Given the description of an element on the screen output the (x, y) to click on. 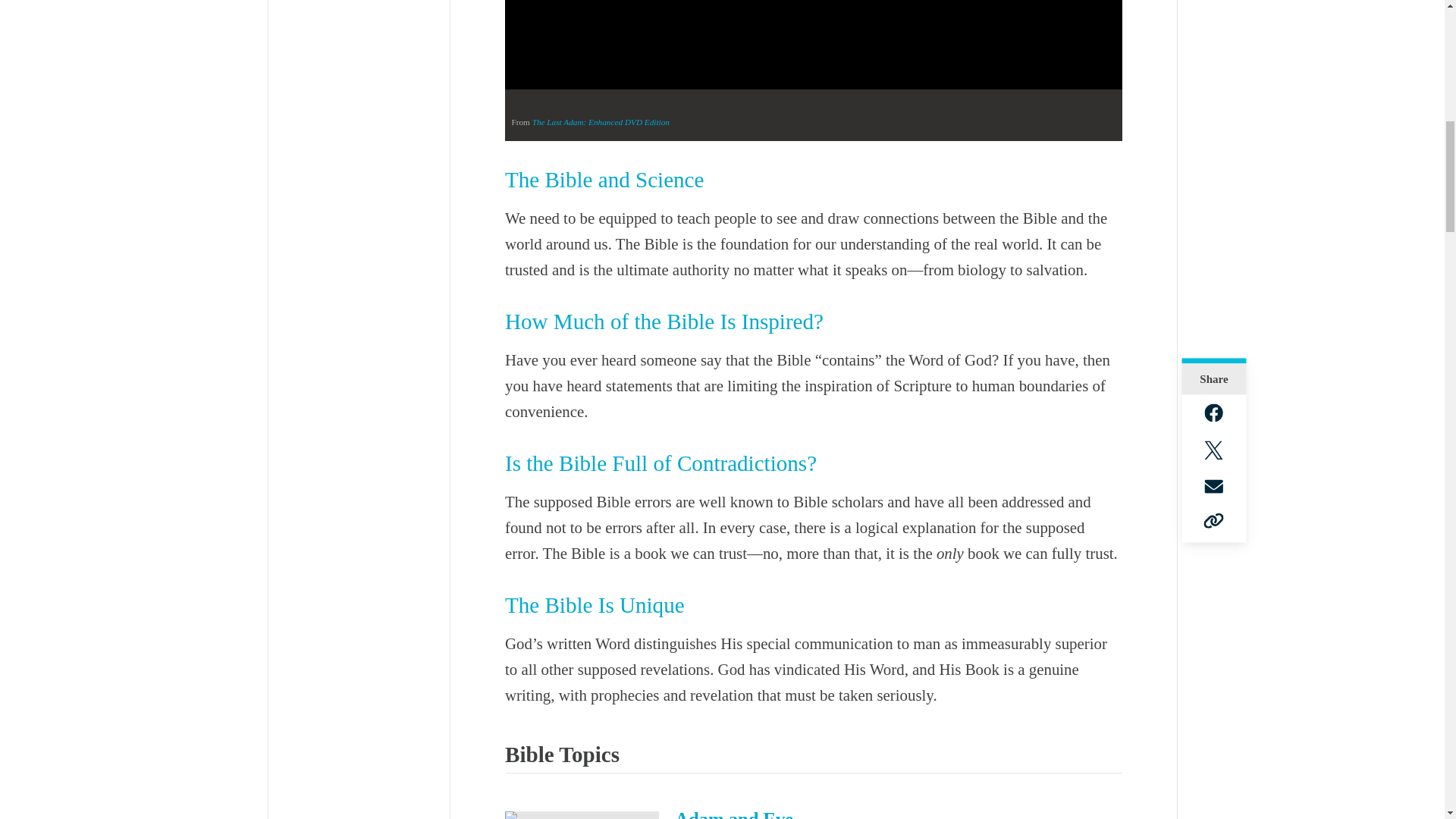
The Last Adam: Enhanced DVD Edition (600, 121)
Is the Bible Full of Contradictions? (660, 463)
The Bible and Science (604, 179)
The Bible Is Unique (594, 604)
How Much of the Bible Is Inspired? (664, 321)
